Given the description of an element on the screen output the (x, y) to click on. 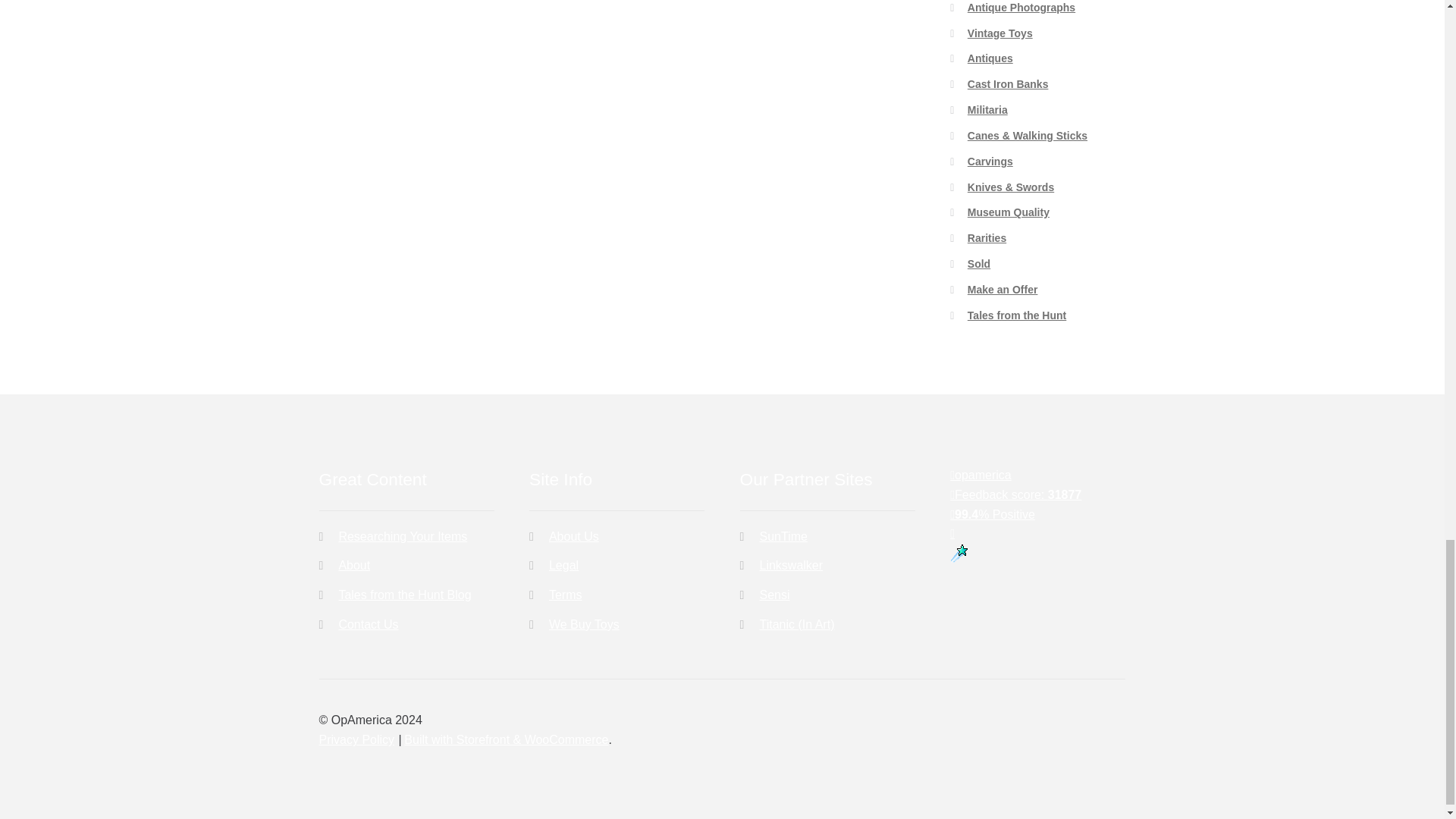
WooCommerce - The Best eCommerce Platform for WordPress (506, 739)
